Given the description of an element on the screen output the (x, y) to click on. 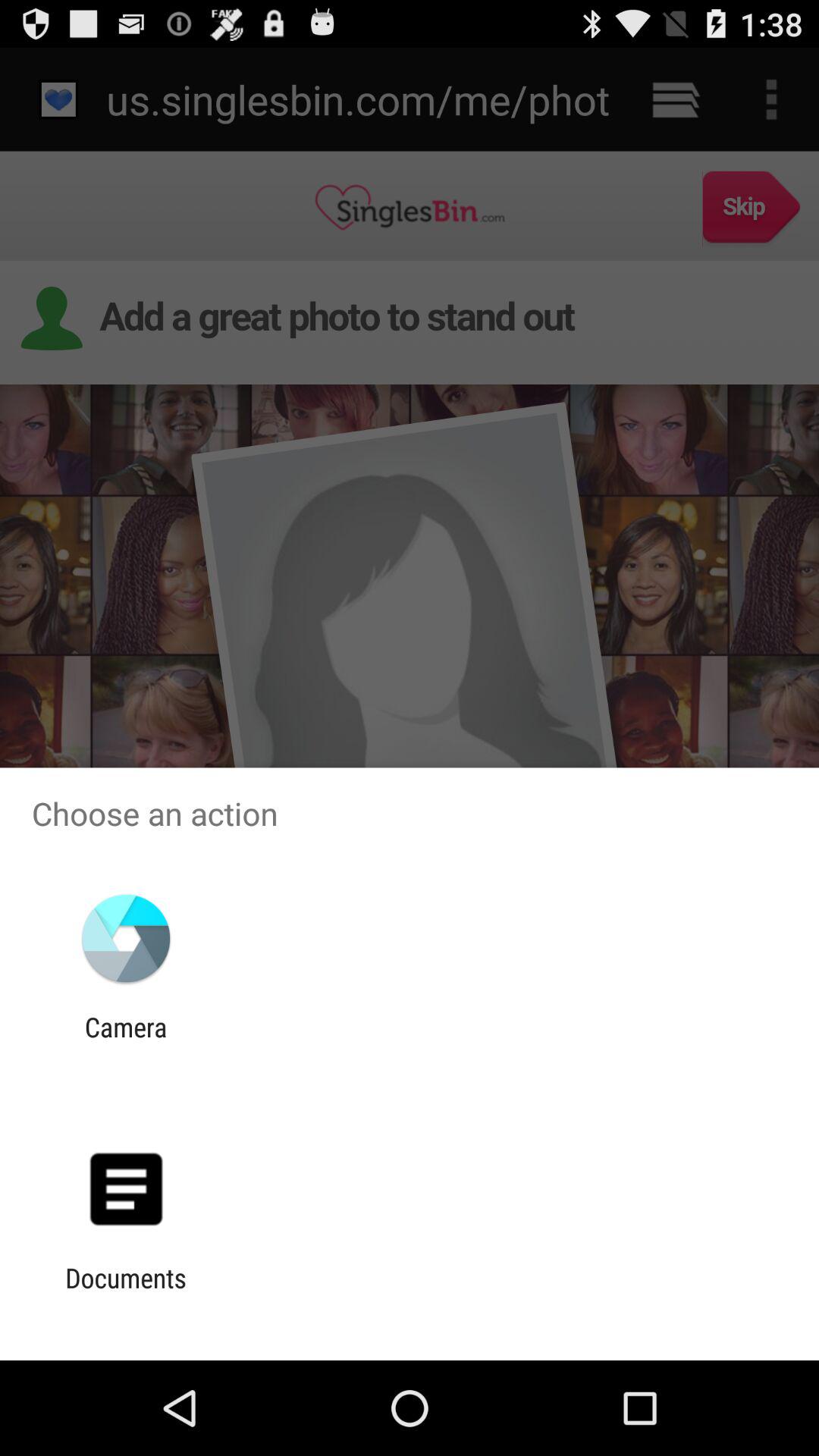
jump to the documents app (125, 1293)
